Given the description of an element on the screen output the (x, y) to click on. 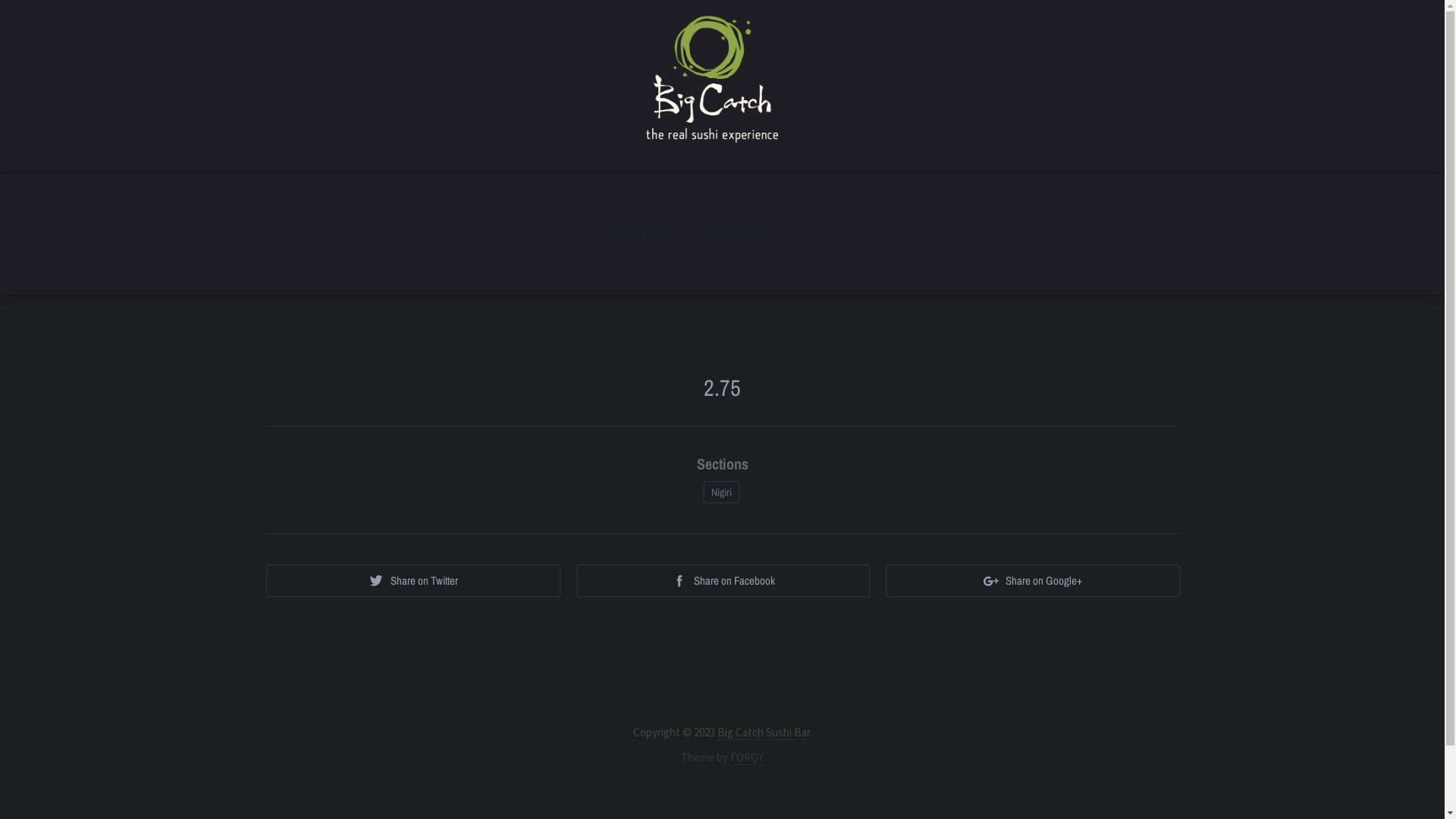
Big Catch Sushi Bar Element type: text (763, 732)
Share on Google+ Element type: text (1032, 580)
Nigiri Element type: text (721, 491)
Share on Twitter Element type: text (412, 580)
Share on Facebook Element type: text (722, 580)
FORQY Element type: text (746, 757)
